Given the description of an element on the screen output the (x, y) to click on. 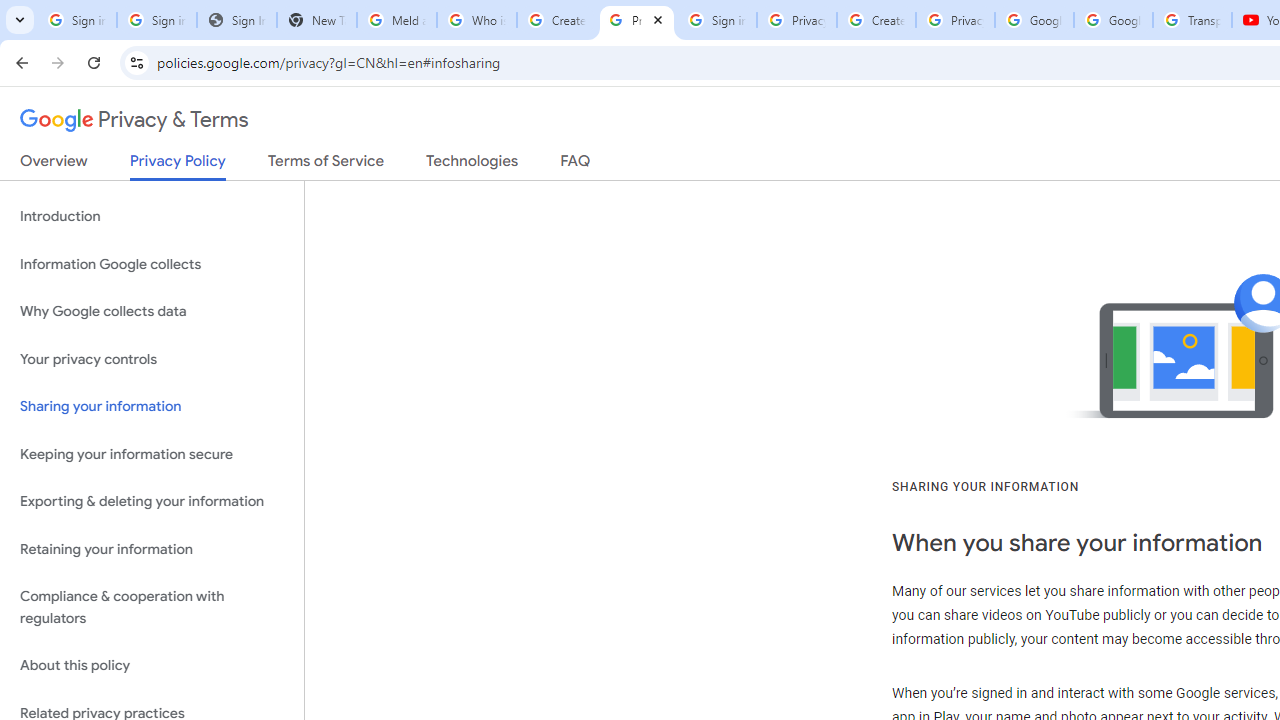
New Tab (316, 20)
Keeping your information secure (152, 453)
About this policy (152, 666)
Sharing your information (152, 407)
Retaining your information (152, 548)
Create your Google Account (556, 20)
Sign in - Google Accounts (76, 20)
Sign In - USA TODAY (236, 20)
Who is my administrator? - Google Account Help (476, 20)
